Given the description of an element on the screen output the (x, y) to click on. 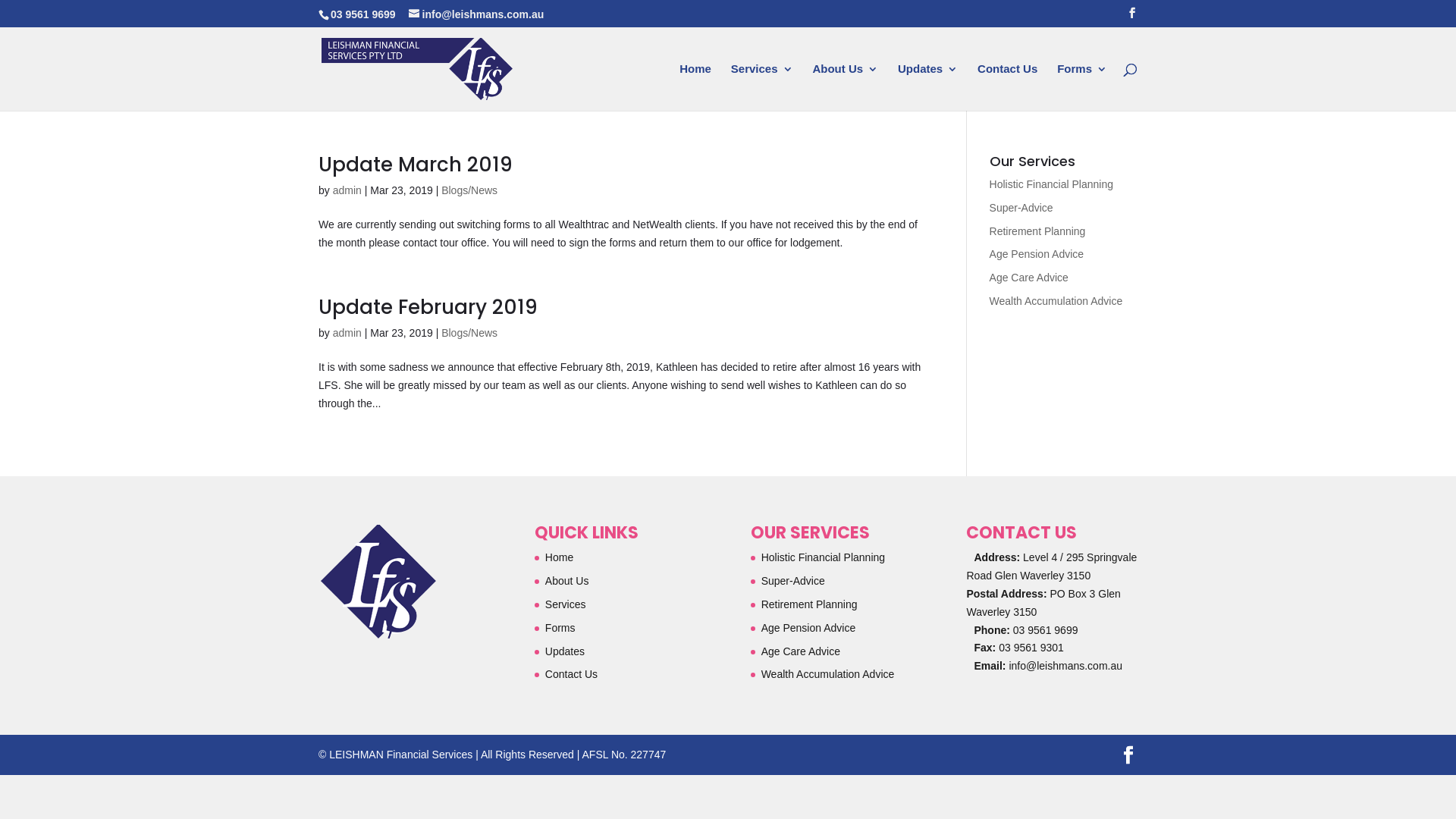
Super-Advice Element type: text (1021, 207)
Contact Us Element type: text (1007, 86)
Retirement Planning Element type: text (1037, 231)
Holistic Financial Planning Element type: text (1051, 184)
Age Care Advice Element type: text (800, 651)
Services Element type: text (565, 604)
Wealth Accumulation Advice Element type: text (1056, 300)
03 9561 9699 Element type: text (1044, 630)
Age Pension Advice Element type: text (1036, 253)
Contact Us Element type: text (571, 674)
Age Pension Advice Element type: text (808, 627)
Update March 2019 Element type: text (415, 164)
Home Element type: text (695, 86)
Wealth Accumulation Advice Element type: text (827, 674)
Update February 2019 Element type: text (427, 306)
Holistic Financial Planning Element type: text (822, 557)
Forms Element type: text (560, 627)
Home Element type: text (559, 557)
Updates Element type: text (927, 86)
03 9561 9301 Element type: text (1030, 647)
About Us Element type: text (845, 86)
Updates Element type: text (564, 651)
admin Element type: text (346, 190)
Super-Advice Element type: text (793, 580)
Blogs/News Element type: text (469, 190)
info@leishmans.com.au Element type: text (476, 13)
Age Care Advice Element type: text (1028, 277)
About Us Element type: text (567, 580)
Services Element type: text (762, 86)
info@leishmans.com.au Element type: text (1065, 665)
Forms Element type: text (1082, 86)
Retirement Planning Element type: text (809, 604)
Blogs/News Element type: text (469, 332)
admin Element type: text (346, 332)
